Given the description of an element on the screen output the (x, y) to click on. 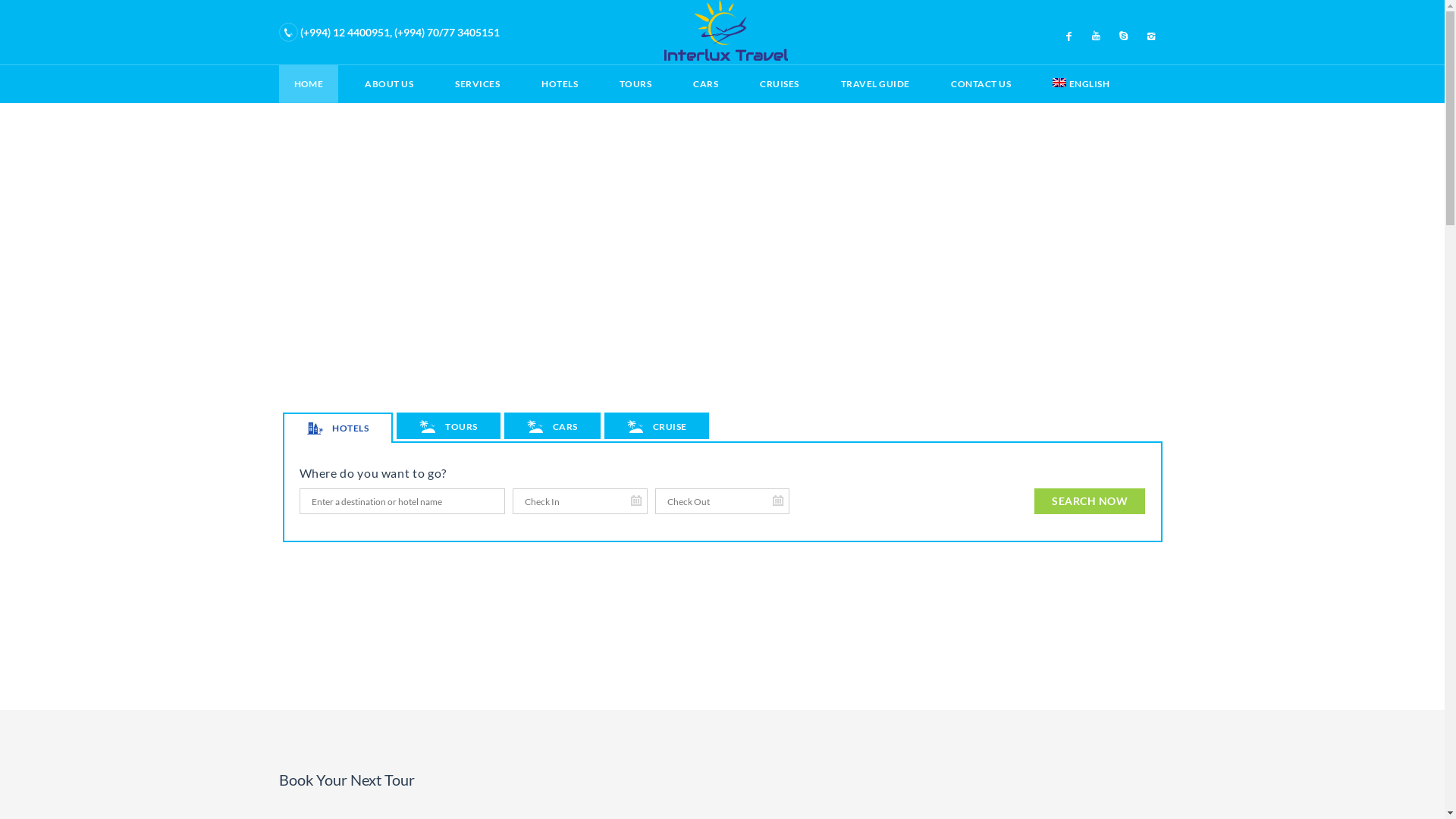
youtube Element type: hover (1096, 34)
CRUISE Element type: text (656, 425)
CRUISES Element type: text (778, 84)
ENGLISH Element type: text (1080, 84)
SERVICES Element type: text (476, 84)
CARS Element type: text (552, 425)
TOURS Element type: text (447, 425)
TRAVEL GUIDE Element type: text (875, 84)
instagram Element type: hover (1151, 34)
SEARCH NOW Element type: text (1089, 501)
HOME Element type: text (308, 84)
English Element type: hover (1059, 82)
TOURS Element type: text (635, 84)
HOTELS Element type: text (337, 427)
ABOUT US Element type: text (388, 84)
facebook Element type: hover (1069, 34)
HOTELS Element type: text (559, 84)
CONTACT US Element type: text (980, 84)
skype Element type: hover (1123, 34)
CARS Element type: text (705, 84)
